Given the description of an element on the screen output the (x, y) to click on. 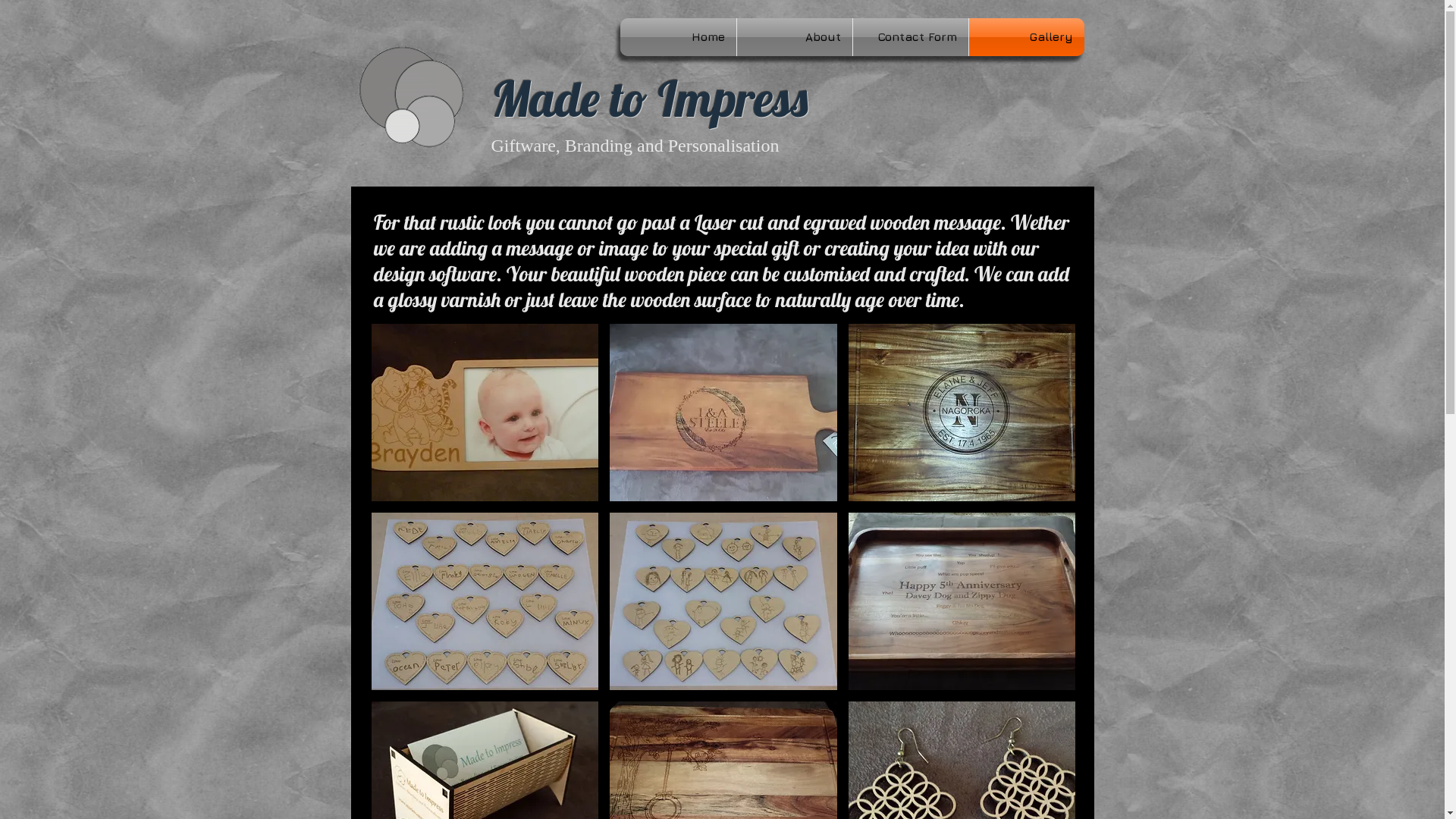
Home Element type: text (678, 37)
Gallery Element type: text (1026, 37)
Contact Form Element type: text (909, 37)
Clipboard02.gif Element type: hover (409, 95)
About Element type: text (794, 37)
